Given the description of an element on the screen output the (x, y) to click on. 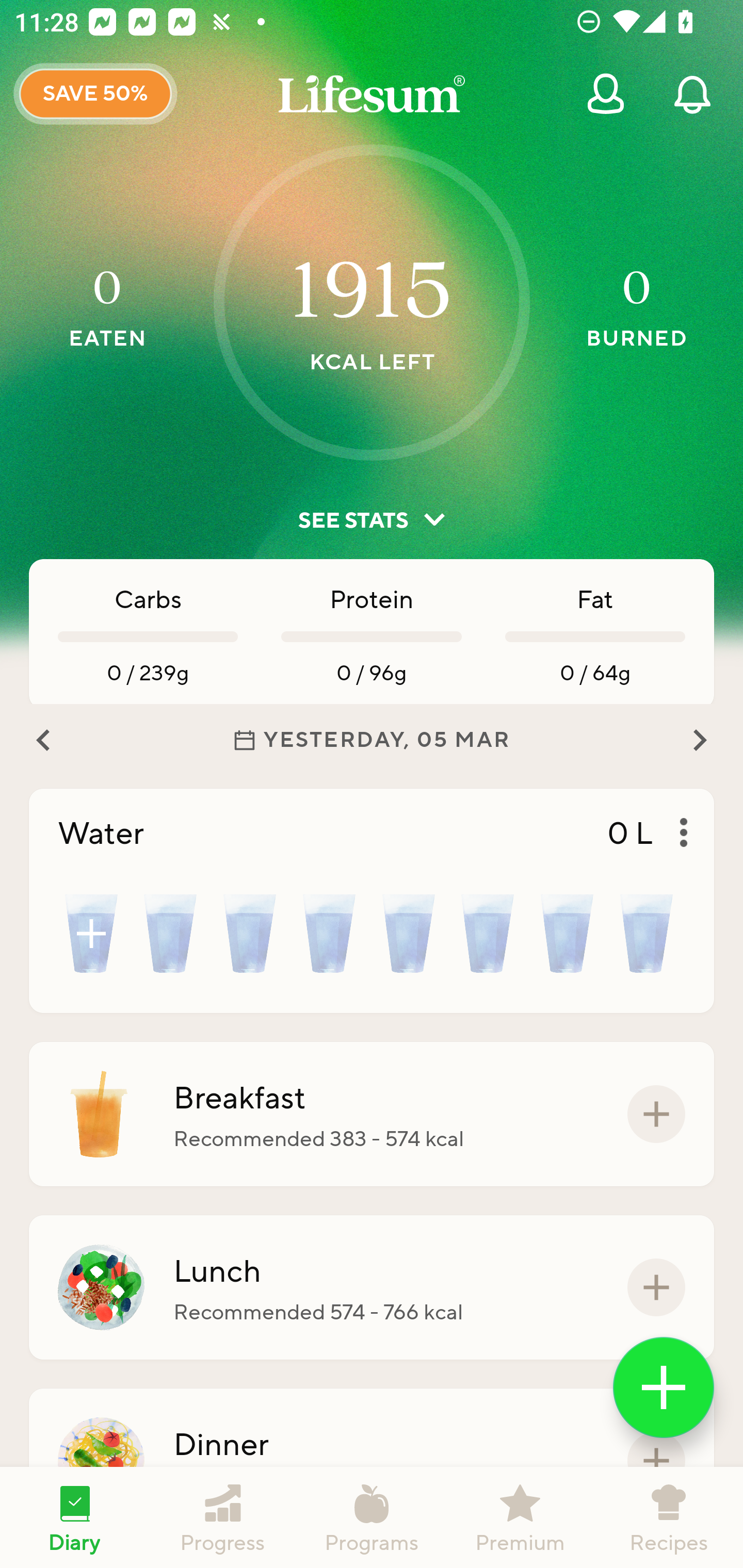
SEE STATS (371, 519)
YESTERDAY, 05 MAR (371, 739)
Breakfast Recommended 383 - 574 kcal (371, 1113)
Lunch Recommended 574 - 766 kcal (371, 1287)
Dinner Recommended 574 - 766 kcal (371, 1461)
Progress (222, 1517)
Programs (371, 1517)
Premium (519, 1517)
Recipes (668, 1517)
